Given the description of an element on the screen output the (x, y) to click on. 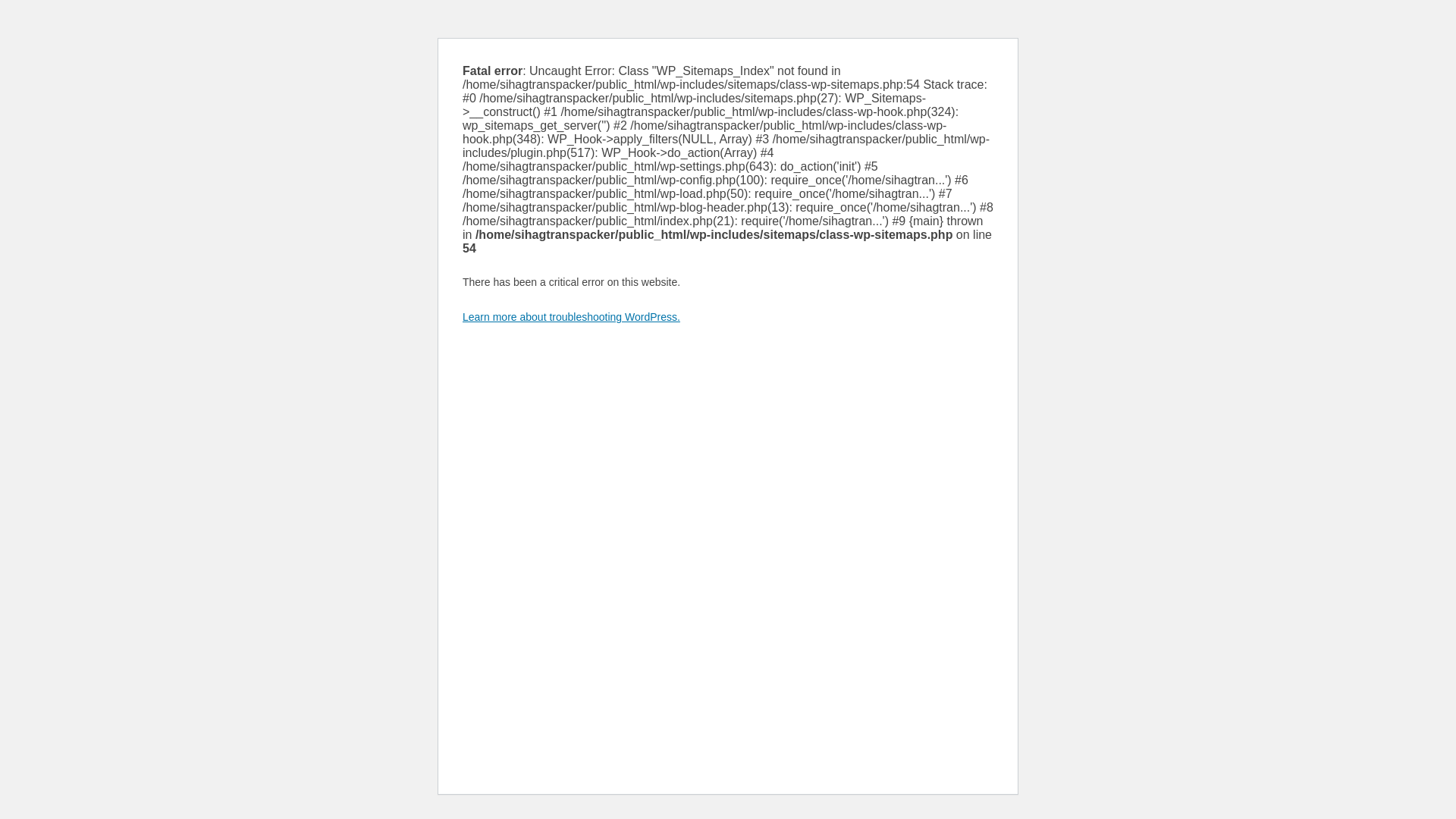
Learn more about troubleshooting WordPress. (571, 316)
